Given the description of an element on the screen output the (x, y) to click on. 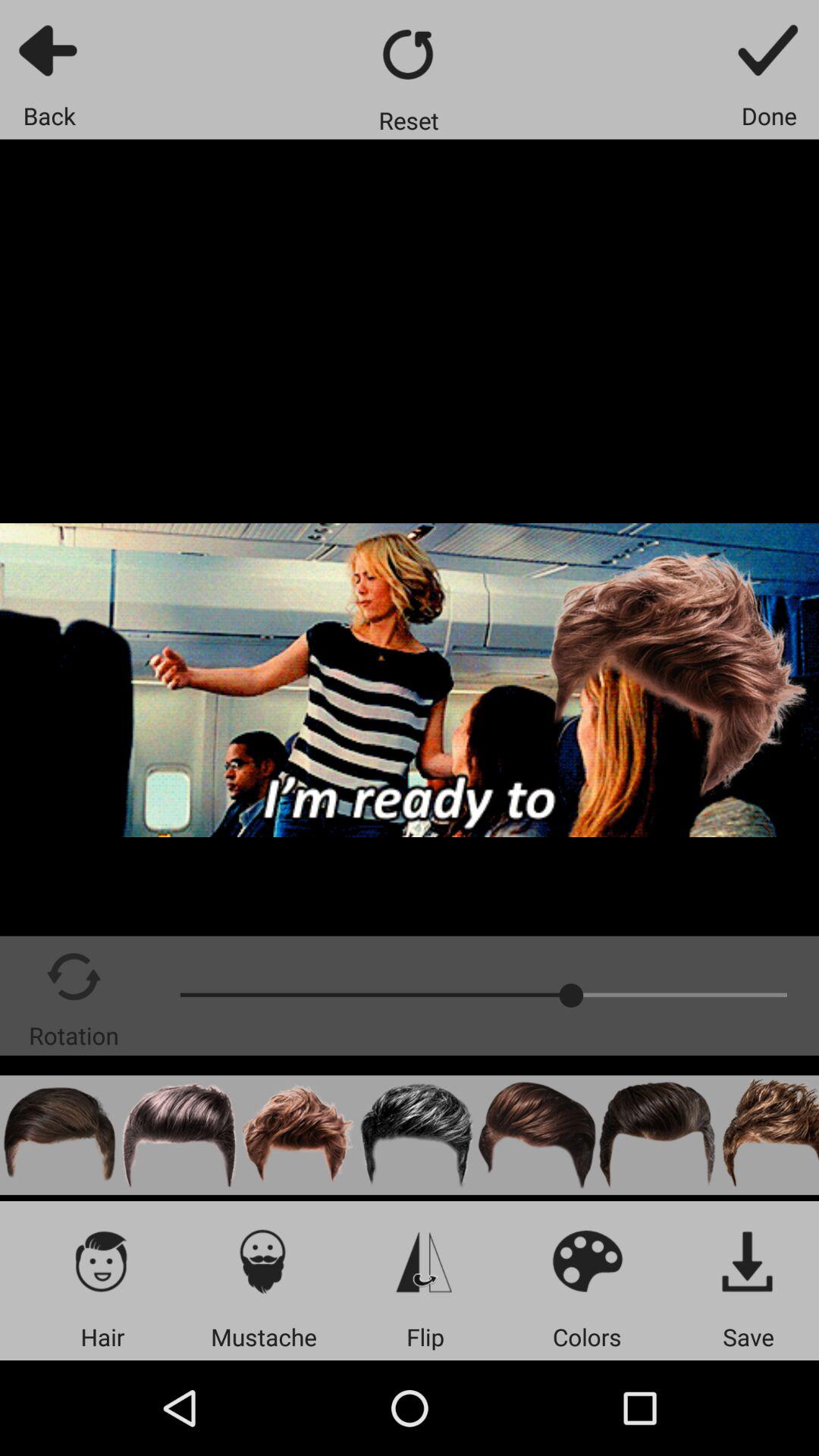
select hair option (59, 1134)
